Given the description of an element on the screen output the (x, y) to click on. 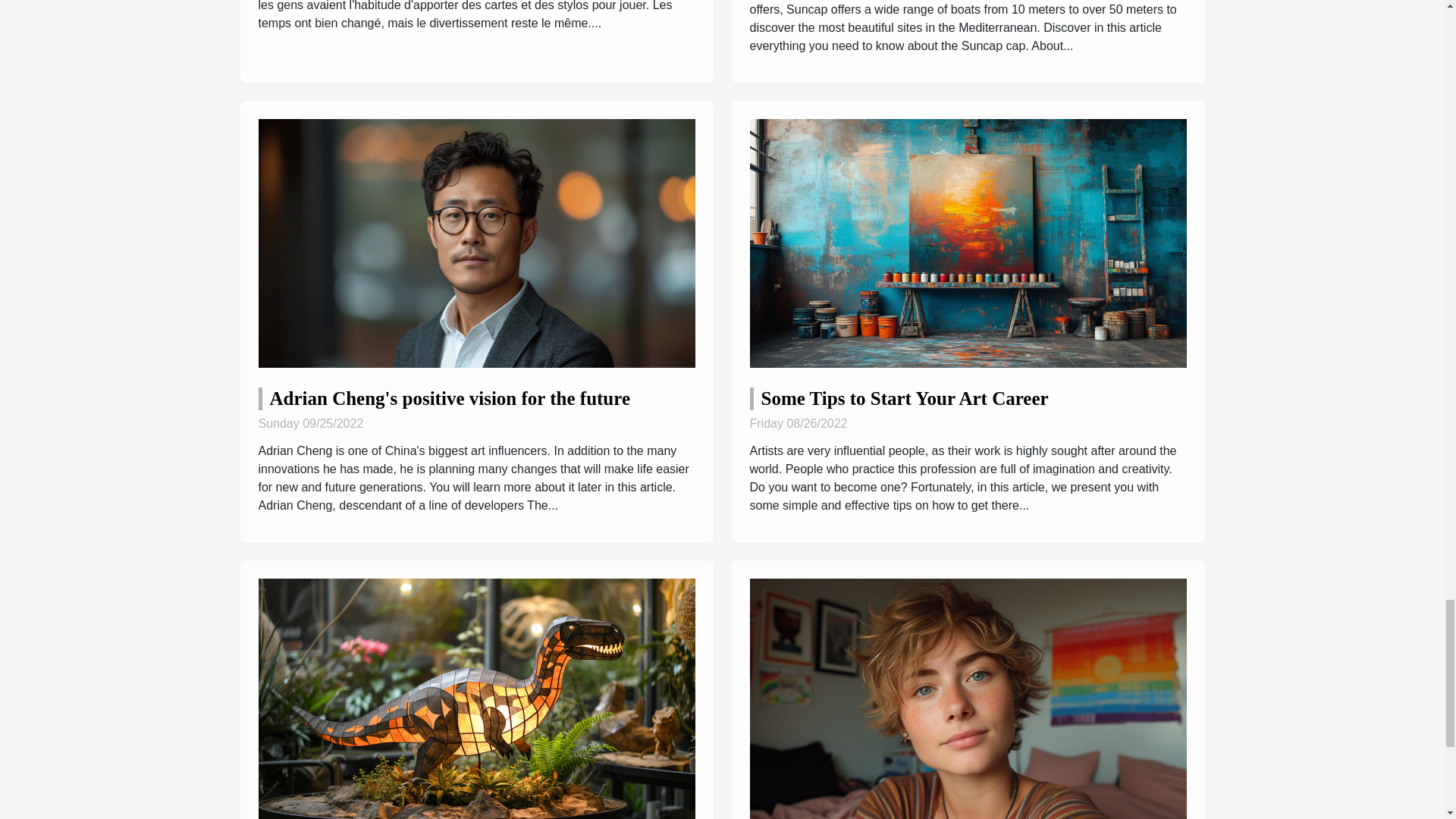
Some Tips to Start Your Art Career (904, 398)
Adrian Cheng's positive vision for the future (475, 241)
Adrian Cheng's positive vision for the future (449, 398)
